Given the description of an element on the screen output the (x, y) to click on. 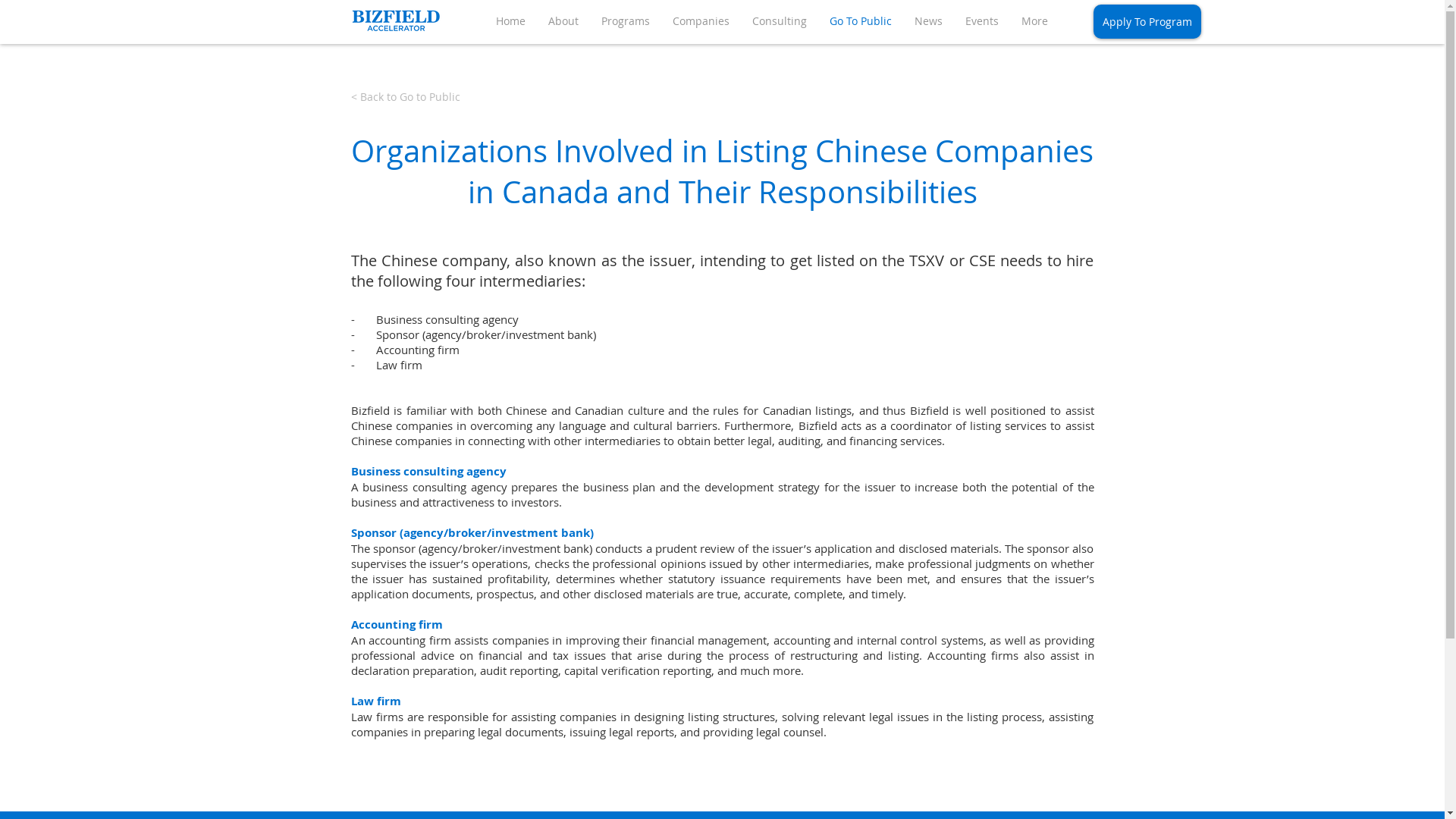
About Element type: text (562, 20)
Companies Element type: text (700, 20)
Apply To Program Element type: text (1147, 21)
Consulting Element type: text (779, 20)
Go To Public Element type: text (860, 20)
Programs Element type: text (625, 20)
Home Element type: text (510, 20)
< Back to Go to Public Element type: text (404, 96)
News Element type: text (928, 20)
Events Element type: text (981, 20)
